Given the description of an element on the screen output the (x, y) to click on. 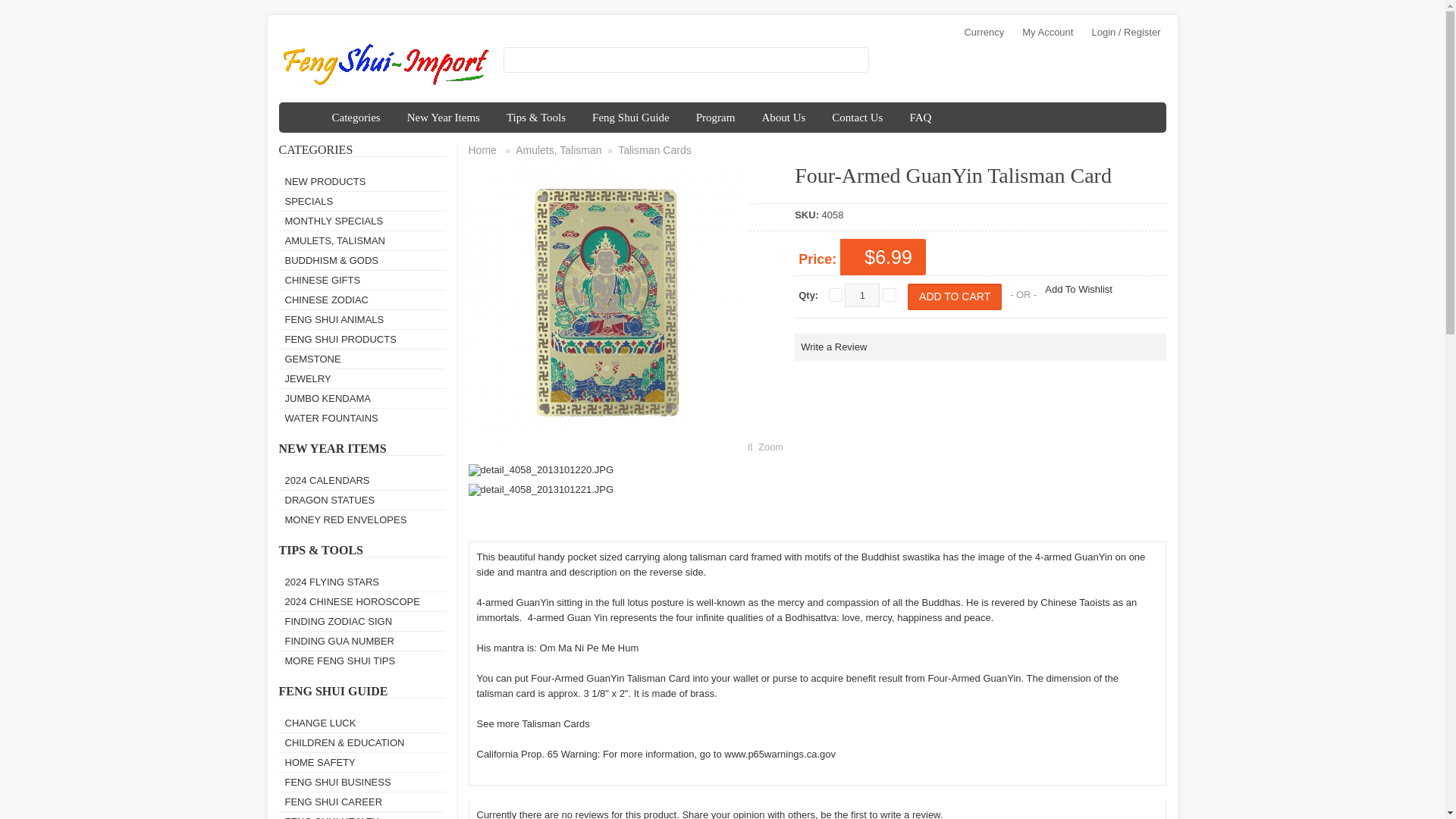
Categories (355, 117)
Feng Shui Guide (630, 117)
Add To Cart (954, 296)
1 (861, 295)
New Year Items (444, 117)
Home (301, 117)
